Given the description of an element on the screen output the (x, y) to click on. 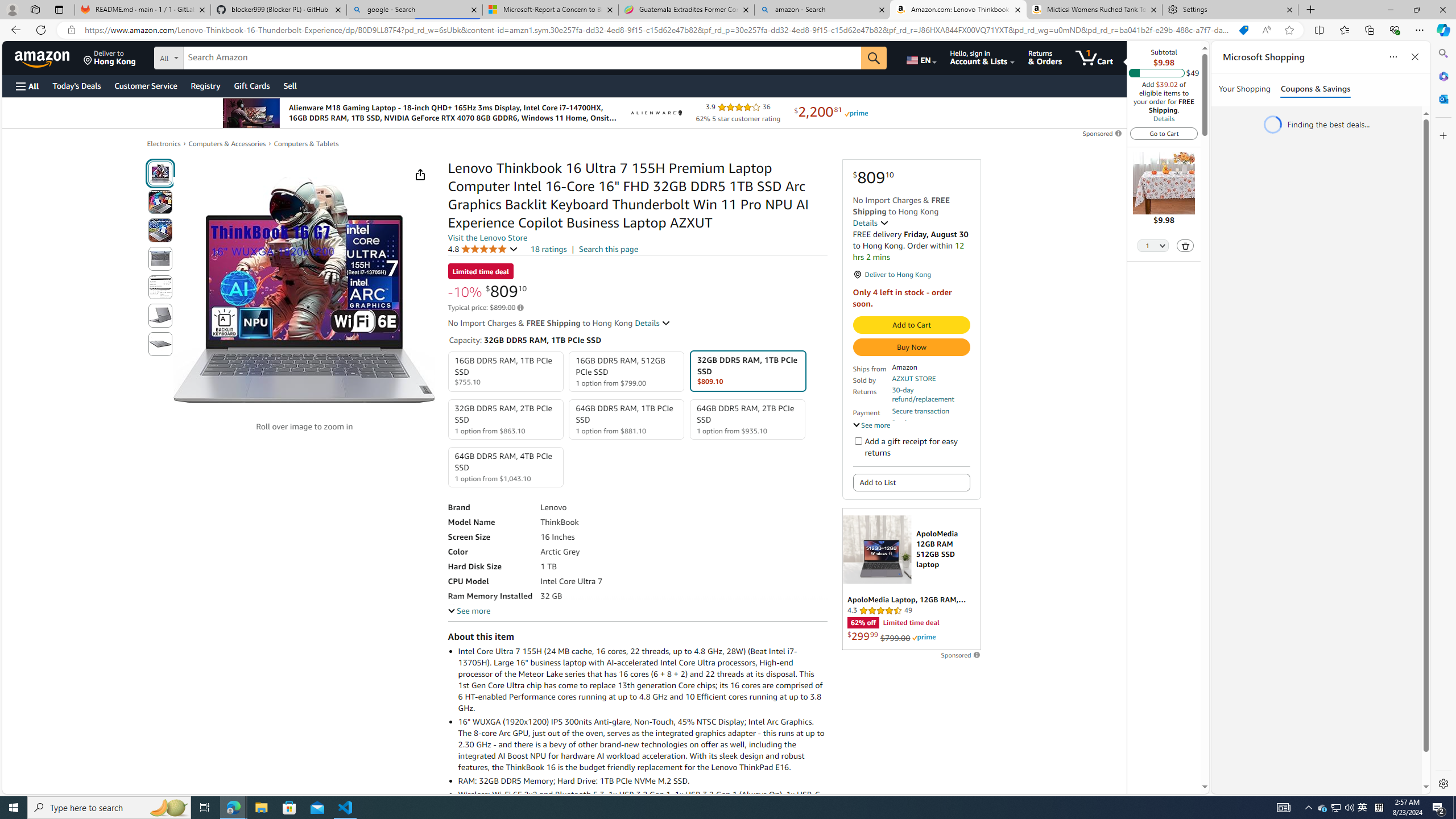
Sponsored ad (911, 578)
Today's Deals (76, 85)
Customer Service (145, 85)
Secure transaction (920, 411)
Go to Cart (1163, 133)
AZXUT STORE (913, 378)
Add a gift receipt for easy returns (857, 440)
Logo (655, 112)
Buy Now (911, 347)
1 item in cart (1094, 57)
Deliver to Hong Kong (109, 57)
